Given the description of an element on the screen output the (x, y) to click on. 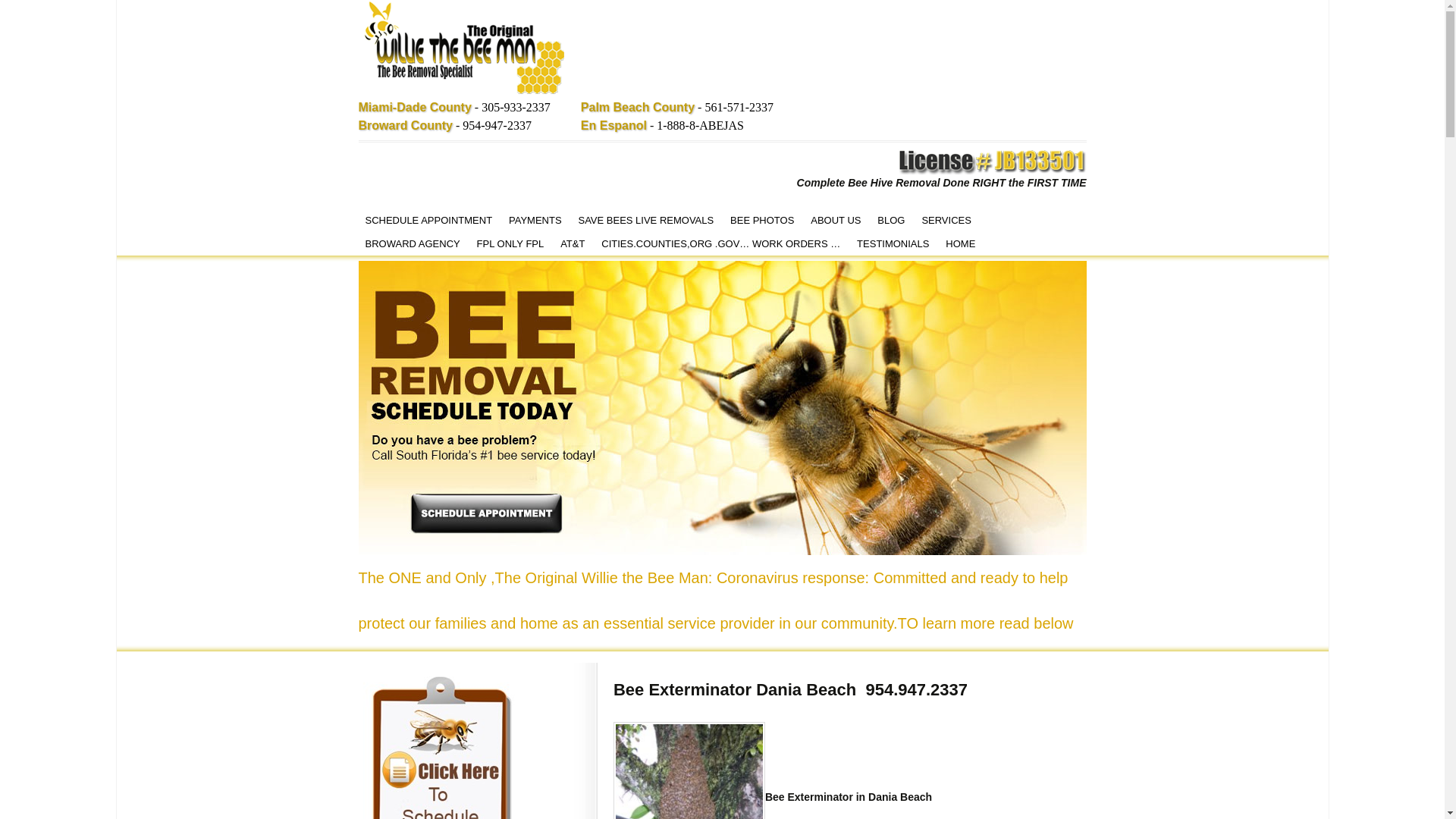
ABOUT US (835, 219)
SAVE BEES LIVE REMOVALS (645, 219)
TESTIMONIALS (893, 243)
BLOG (890, 219)
BROWARD AGENCY (411, 243)
PAYMENTS (535, 219)
SERVICES (946, 219)
1-888-8-ABEJAS (700, 124)
561-571-2337 (738, 106)
305-933-2337 (515, 106)
HOME (960, 243)
BEE PHOTOS (761, 219)
FPL ONLY FPL (510, 243)
